Given the description of an element on the screen output the (x, y) to click on. 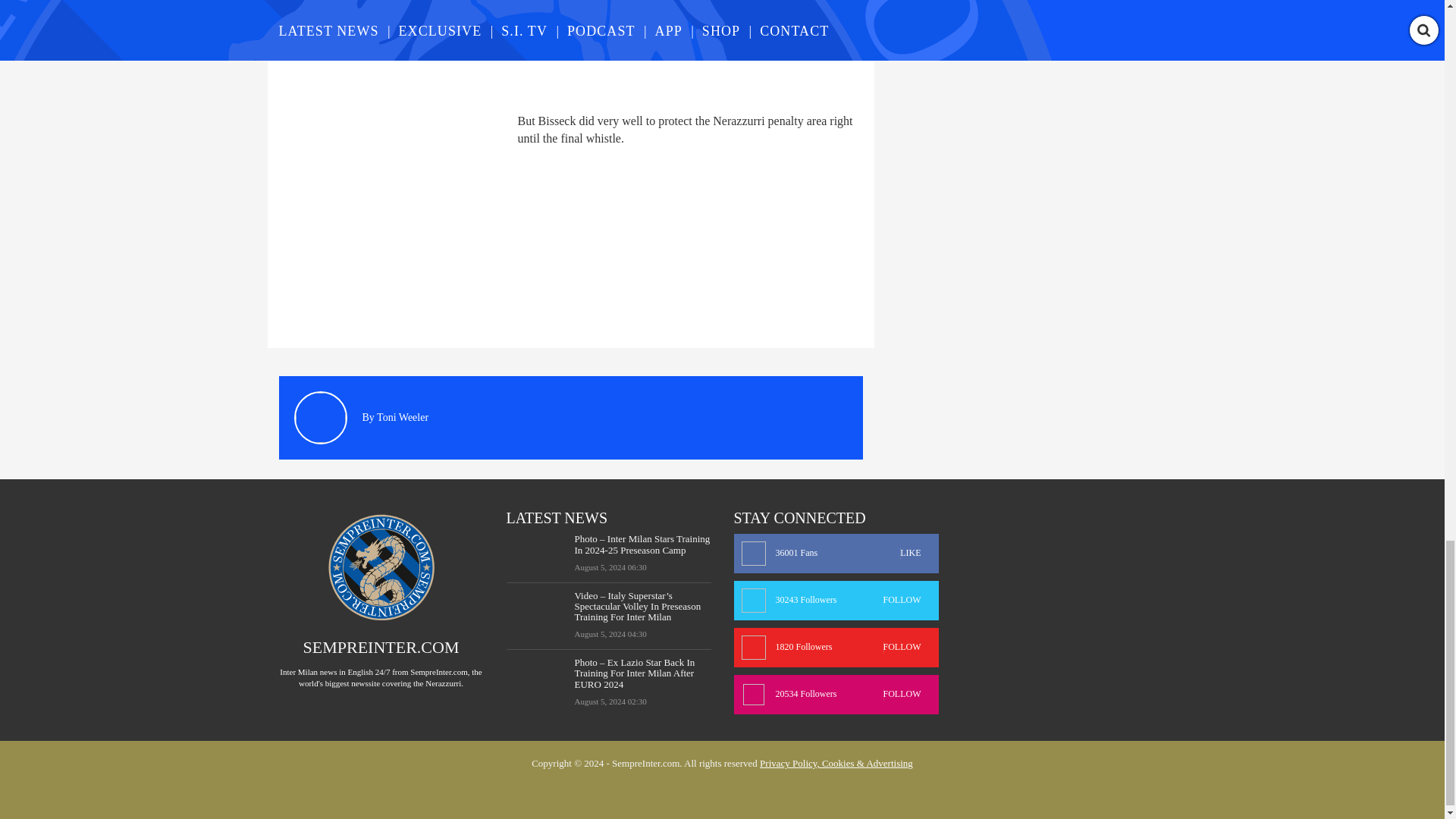
View more articles by Toni Weeler (402, 417)
SEMPREINTER.COM (381, 647)
Toni Weeler (402, 417)
YouTube video player (491, 47)
